Given the description of an element on the screen output the (x, y) to click on. 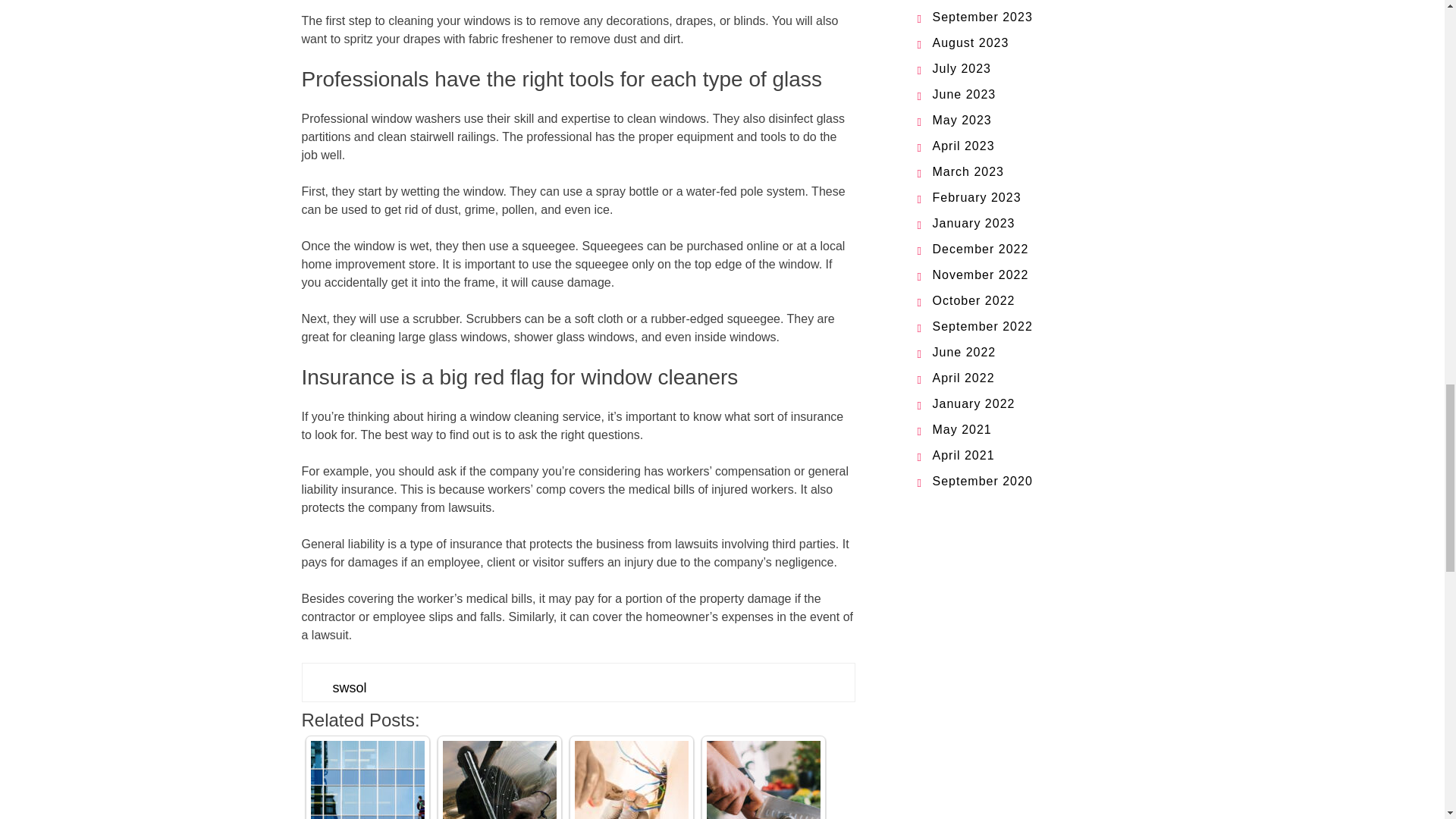
How to Find Professional Window Cleaners Near Me in Toronto (368, 780)
swsol (348, 687)
Tip to Find Knife Sharpening Services (763, 780)
How to Find Electrician Services in Amsterdam (631, 780)
9 Top Toronto Window Cleaning Services (499, 780)
